Given the description of an element on the screen output the (x, y) to click on. 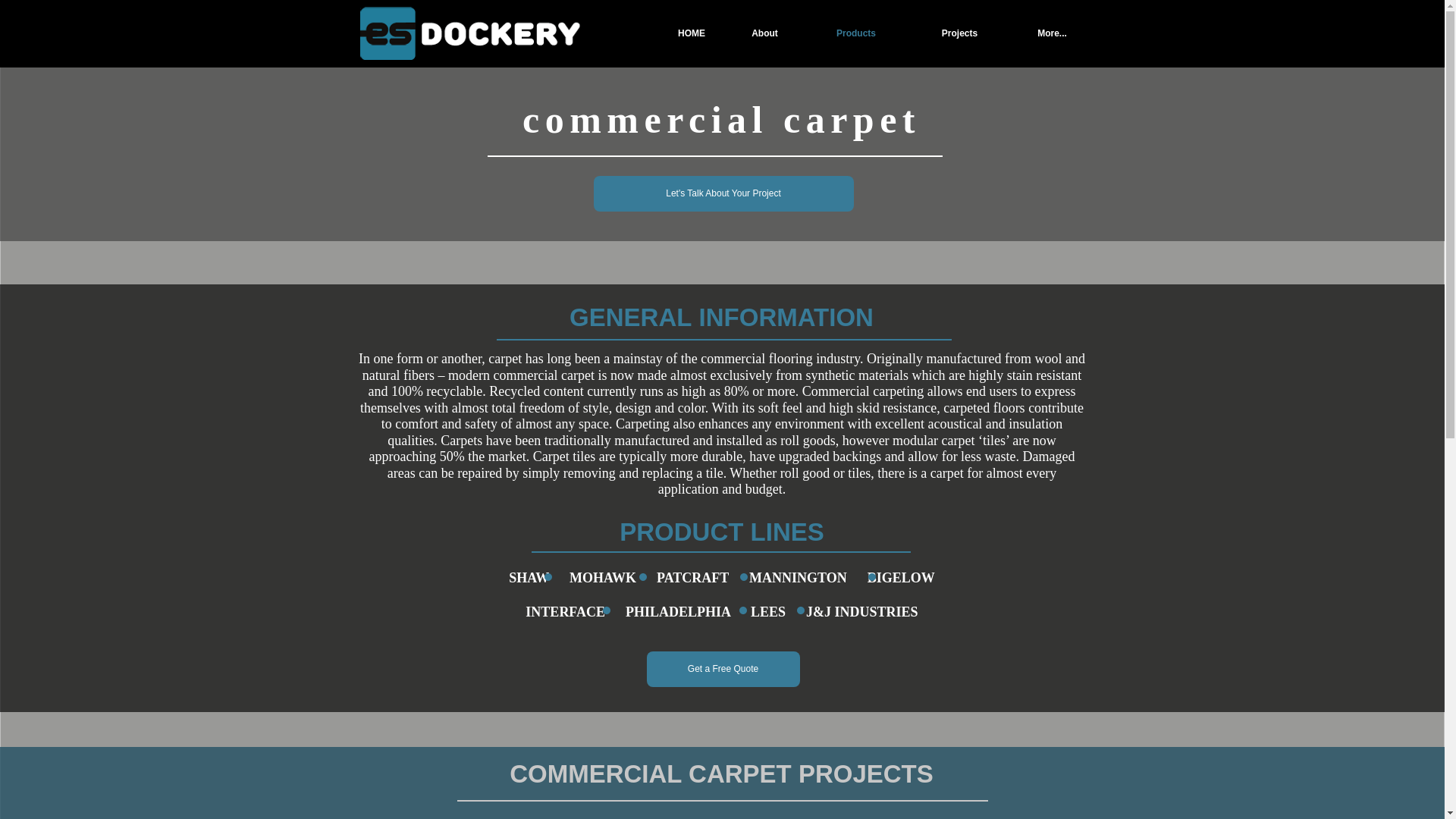
HOME (690, 33)
About (764, 33)
Get a Free Quote (722, 668)
Products (855, 33)
Let's Talk About Your Project (722, 193)
Projects (959, 33)
